Given the description of an element on the screen output the (x, y) to click on. 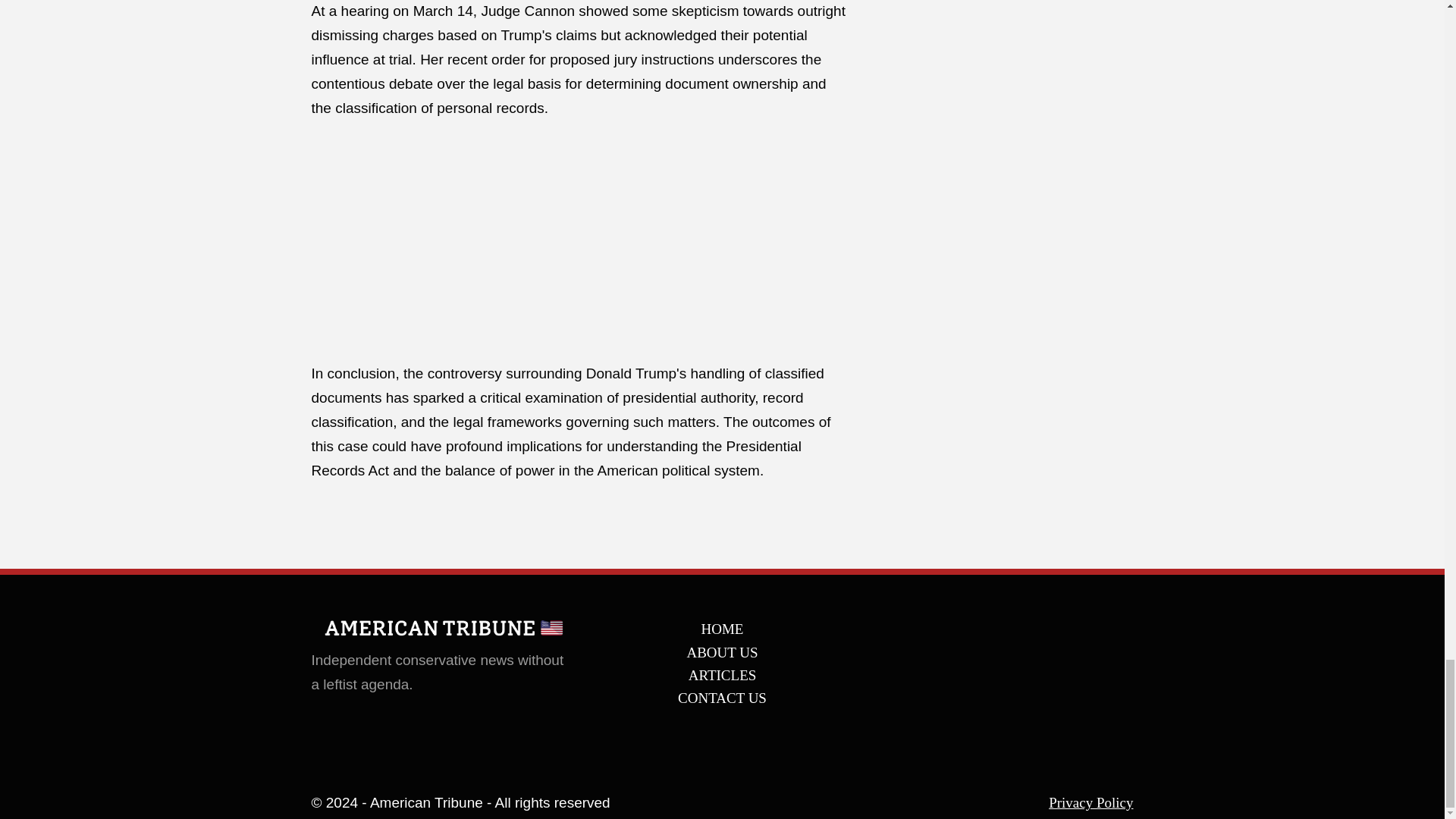
HOME (722, 629)
ABOUT US (722, 653)
Privacy Policy (1090, 803)
CONTACT US (722, 698)
ARTICLES (722, 675)
